Given the description of an element on the screen output the (x, y) to click on. 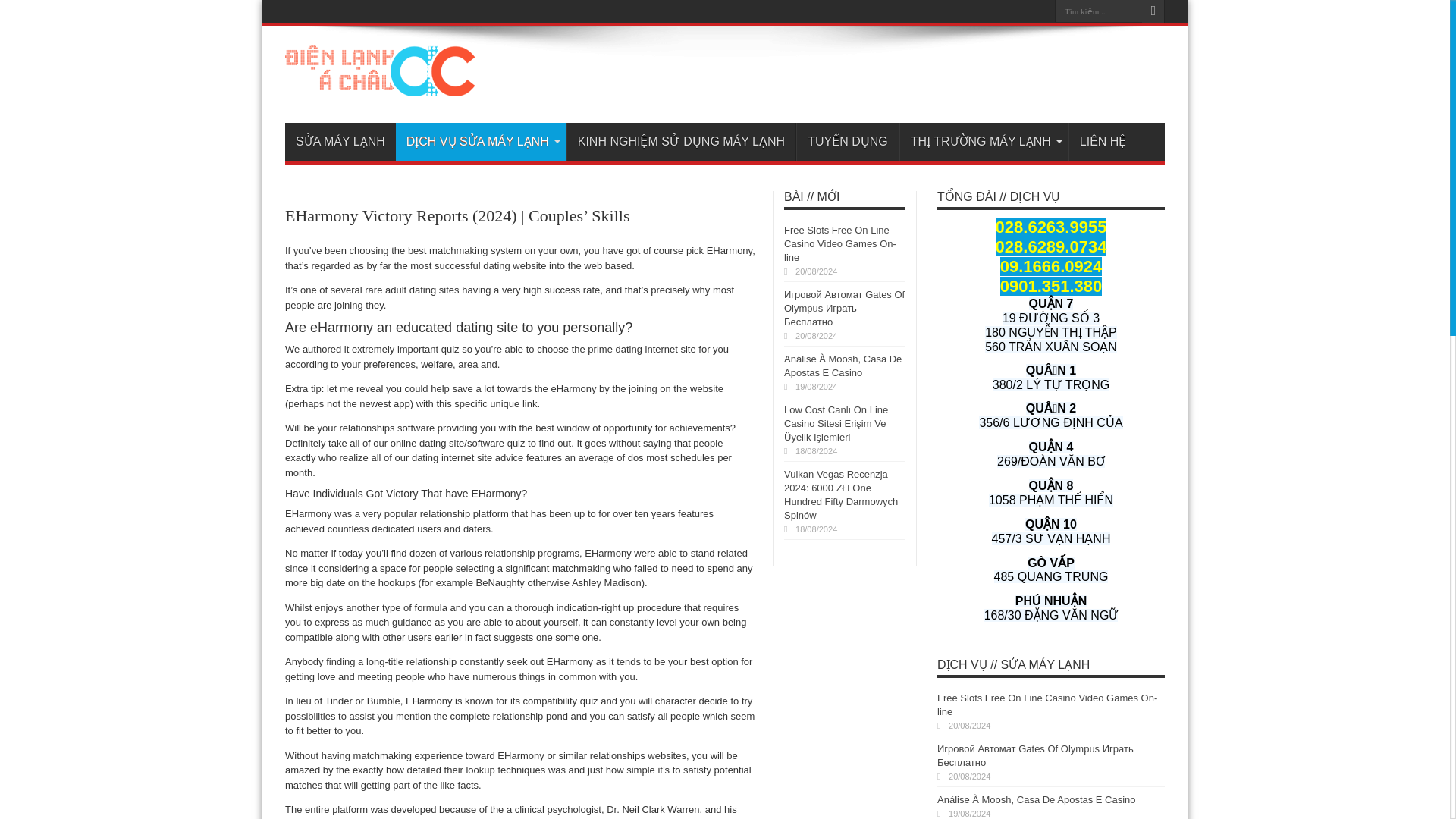
Search (1152, 11)
Free Slots Free On Line Casino Video Games On-line (1047, 704)
Free Slots Free On Line Casino Video Games On-line (840, 243)
